Given the description of an element on the screen output the (x, y) to click on. 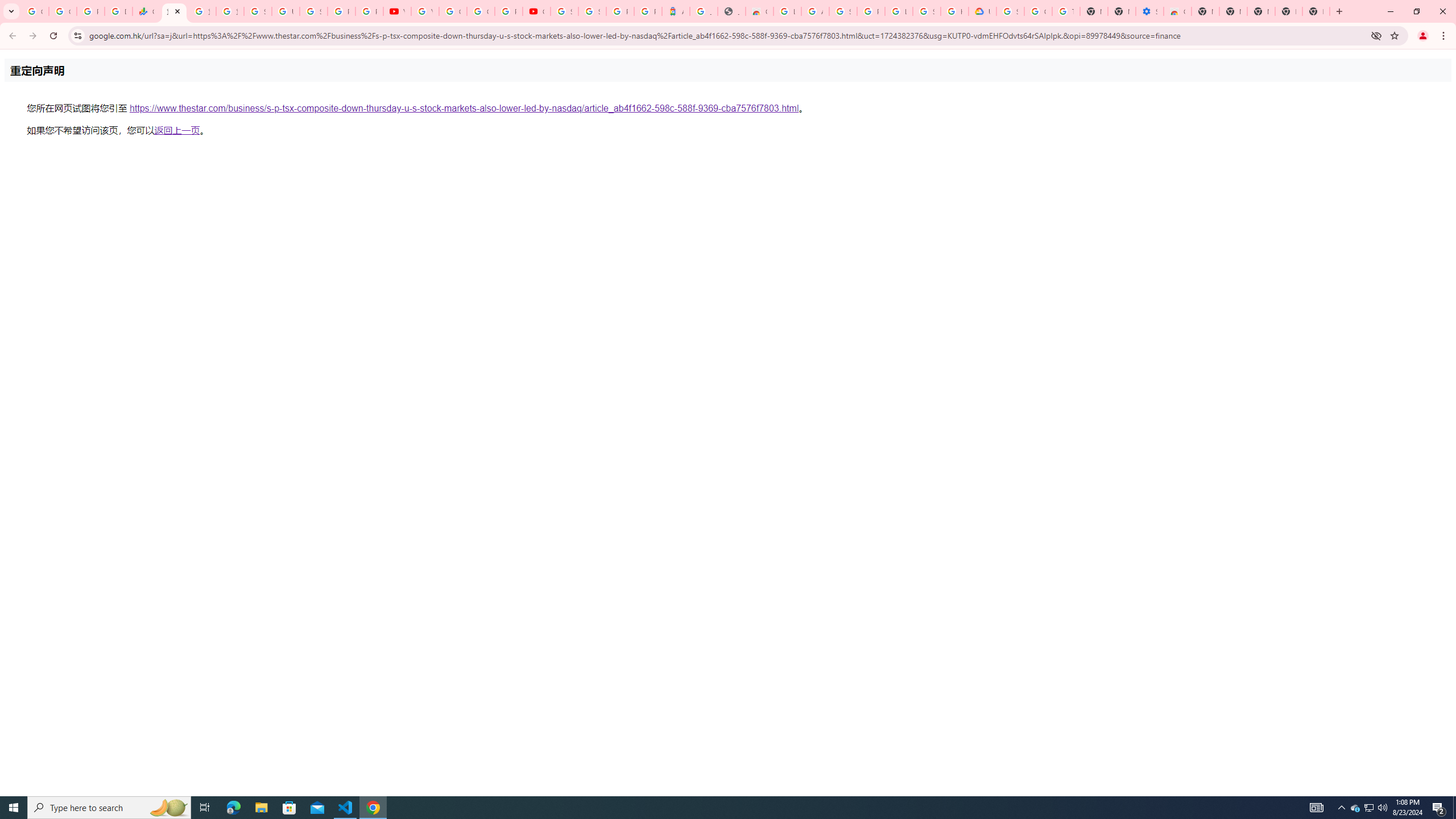
New Tab (1205, 11)
Atour Hotel - Google hotels (675, 11)
Sign in - Google Accounts (257, 11)
Ad Settings (815, 11)
